Given the description of an element on the screen output the (x, y) to click on. 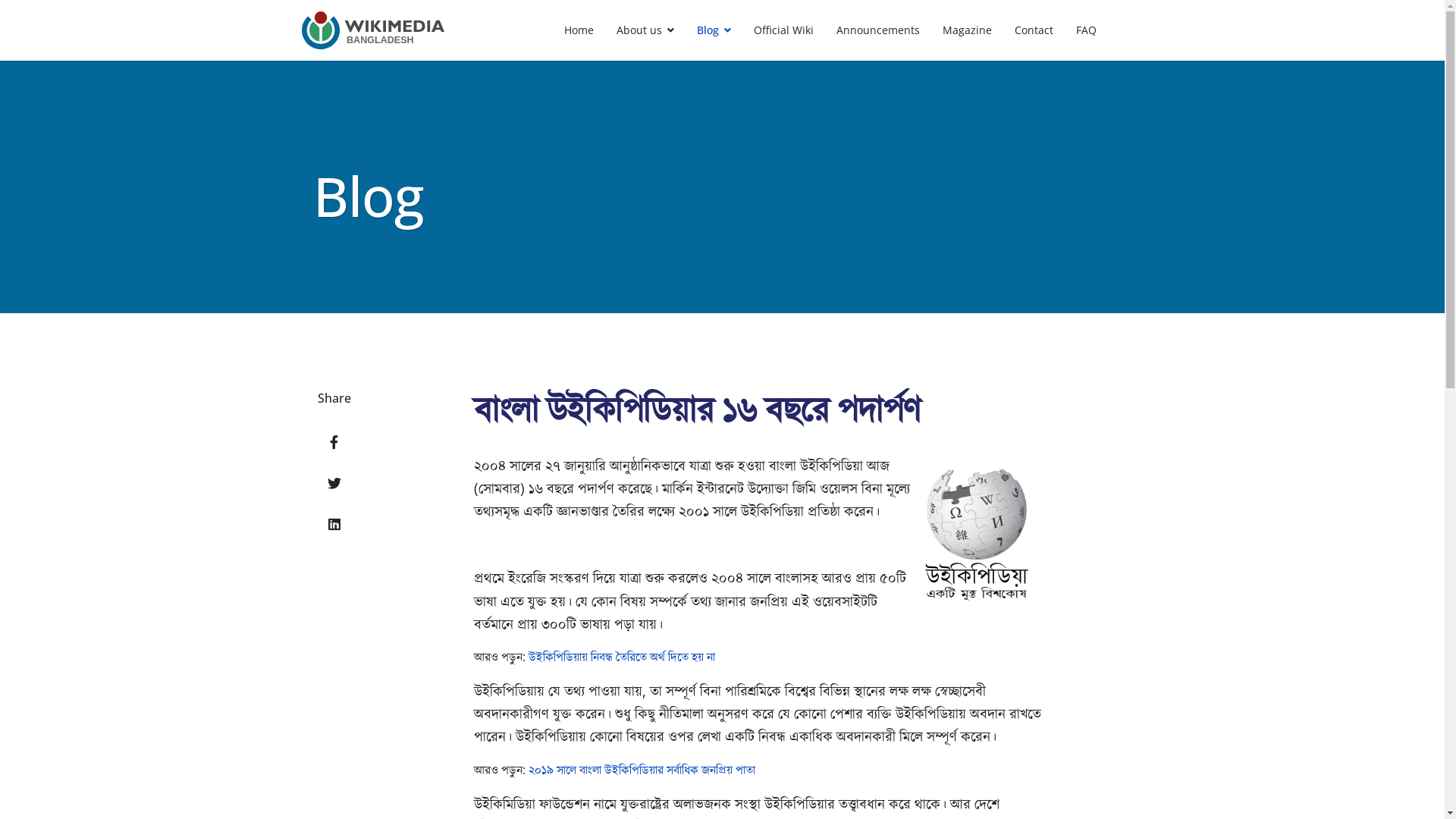
Blog Element type: text (713, 30)
Facebook Element type: hover (333, 442)
FAQ Element type: text (1085, 30)
LinkedIn Element type: hover (333, 523)
Twitter Element type: hover (334, 482)
Home Element type: text (578, 30)
Contact Element type: text (1033, 30)
Announcements Element type: text (878, 30)
Official Wiki Element type: text (783, 30)
Magazine Element type: text (967, 30)
